Given the description of an element on the screen output the (x, y) to click on. 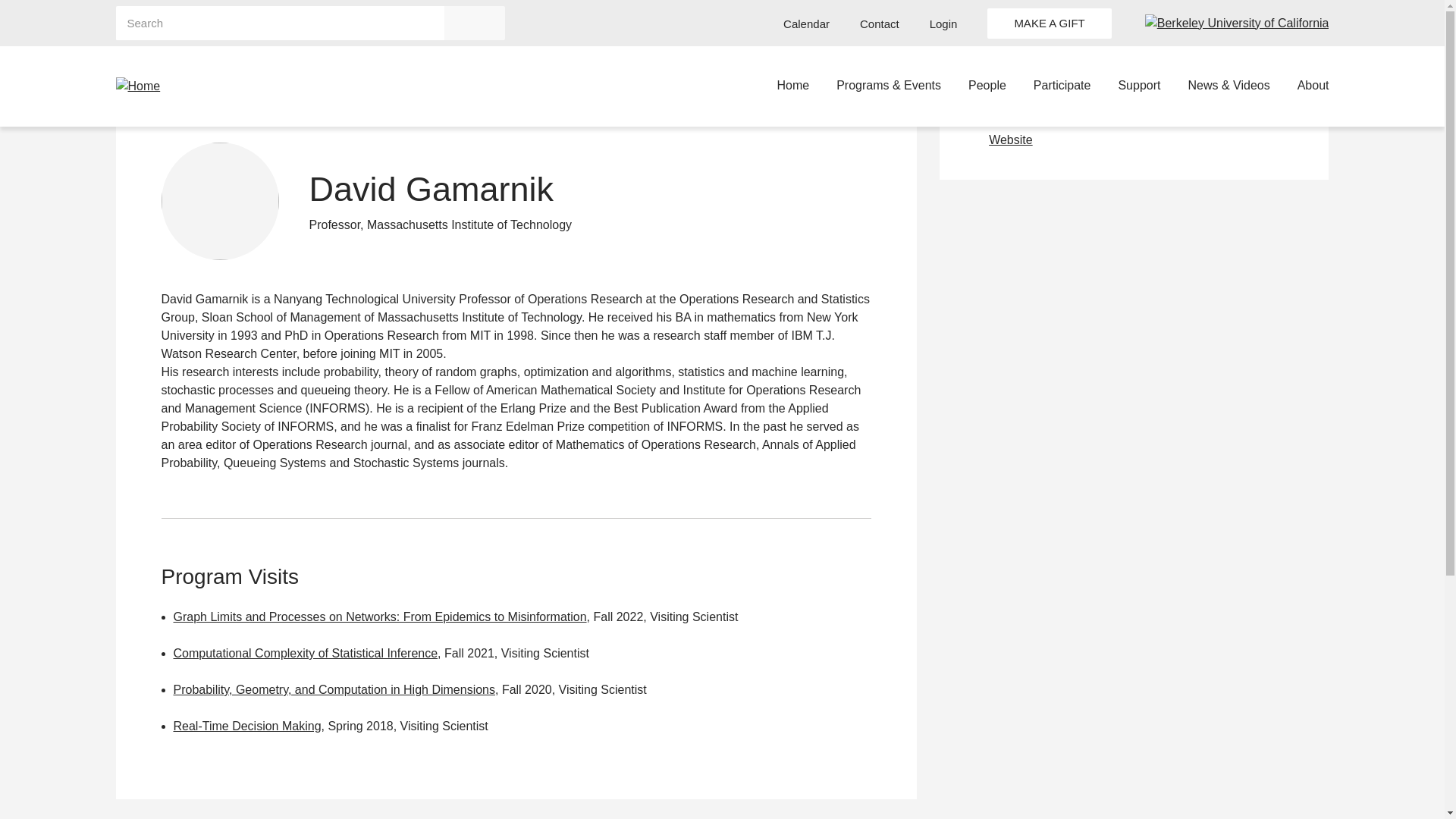
Login (944, 24)
Participate (1061, 86)
Contact (879, 24)
Support (1139, 86)
Calendar (806, 24)
Search (474, 22)
MAKE A GIFT (1048, 22)
Search (474, 22)
